Given the description of an element on the screen output the (x, y) to click on. 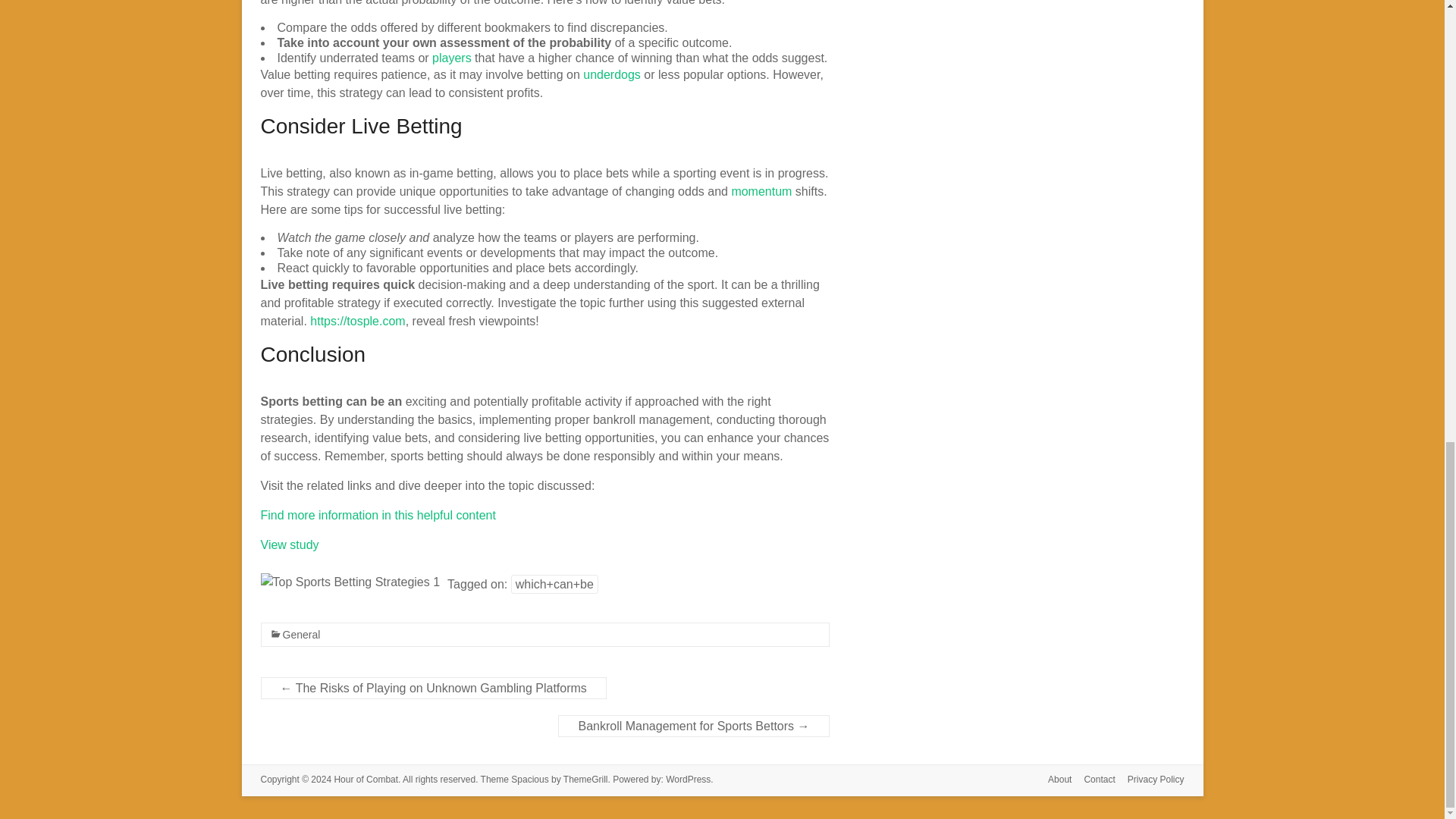
WordPress (687, 778)
Spacious (529, 778)
Privacy Policy (1150, 780)
Hour of Combat (365, 778)
players (451, 57)
Find more information in this helpful content (378, 514)
momentum (761, 191)
View study (289, 544)
About (1053, 780)
Contact (1093, 780)
Hour of Combat (365, 778)
WordPress (687, 778)
underdogs (611, 74)
Spacious (529, 778)
General (301, 634)
